Given the description of an element on the screen output the (x, y) to click on. 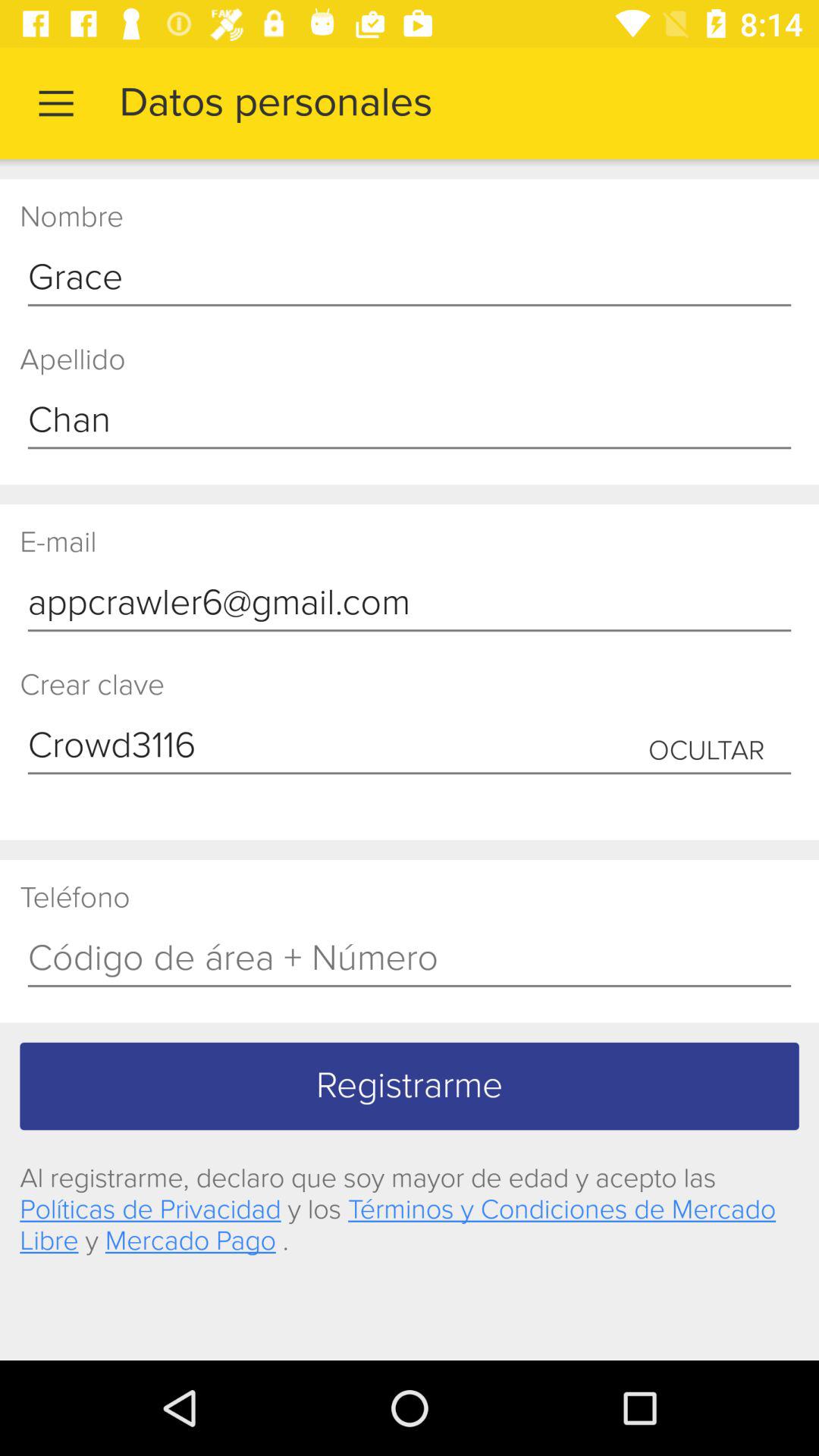
select the text below the telefono (409, 959)
click on registrarme (409, 1085)
select the text below the crear clave (409, 746)
